Given the description of an element on the screen output the (x, y) to click on. 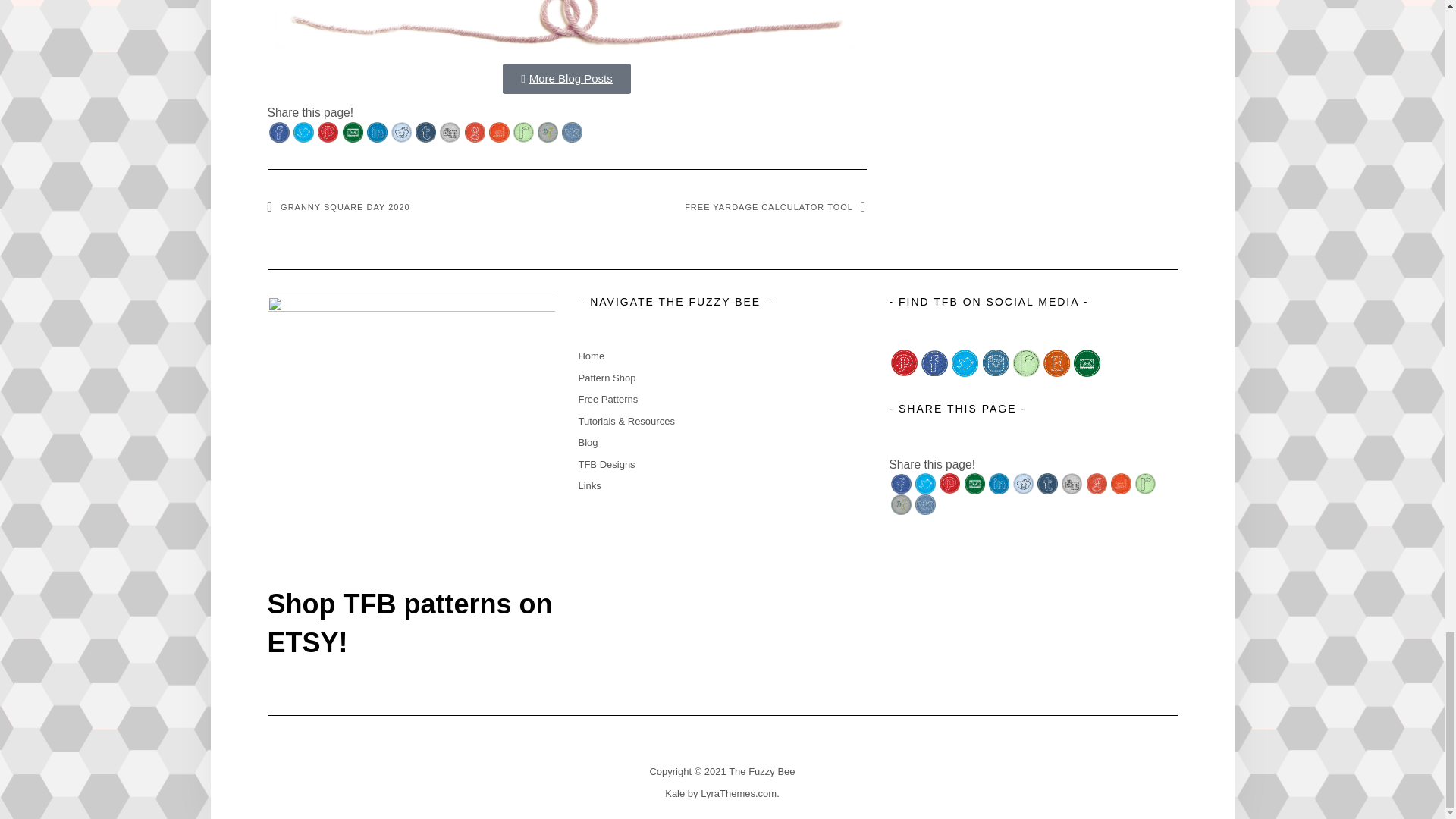
More Blog Posts (566, 78)
Share via LinkedIn (376, 131)
Share via Pinterest (327, 131)
Share via Tumblr (424, 131)
Share via Twitter (304, 131)
Share via Digg (449, 131)
Share via Reddit (401, 131)
Share via Facebook (279, 131)
Share via Google (474, 131)
Share via Email (352, 131)
FREE YARDAGE CALCULATOR TOOL (775, 206)
GRANNY SQUARE DAY 2020 (337, 206)
